Given the description of an element on the screen output the (x, y) to click on. 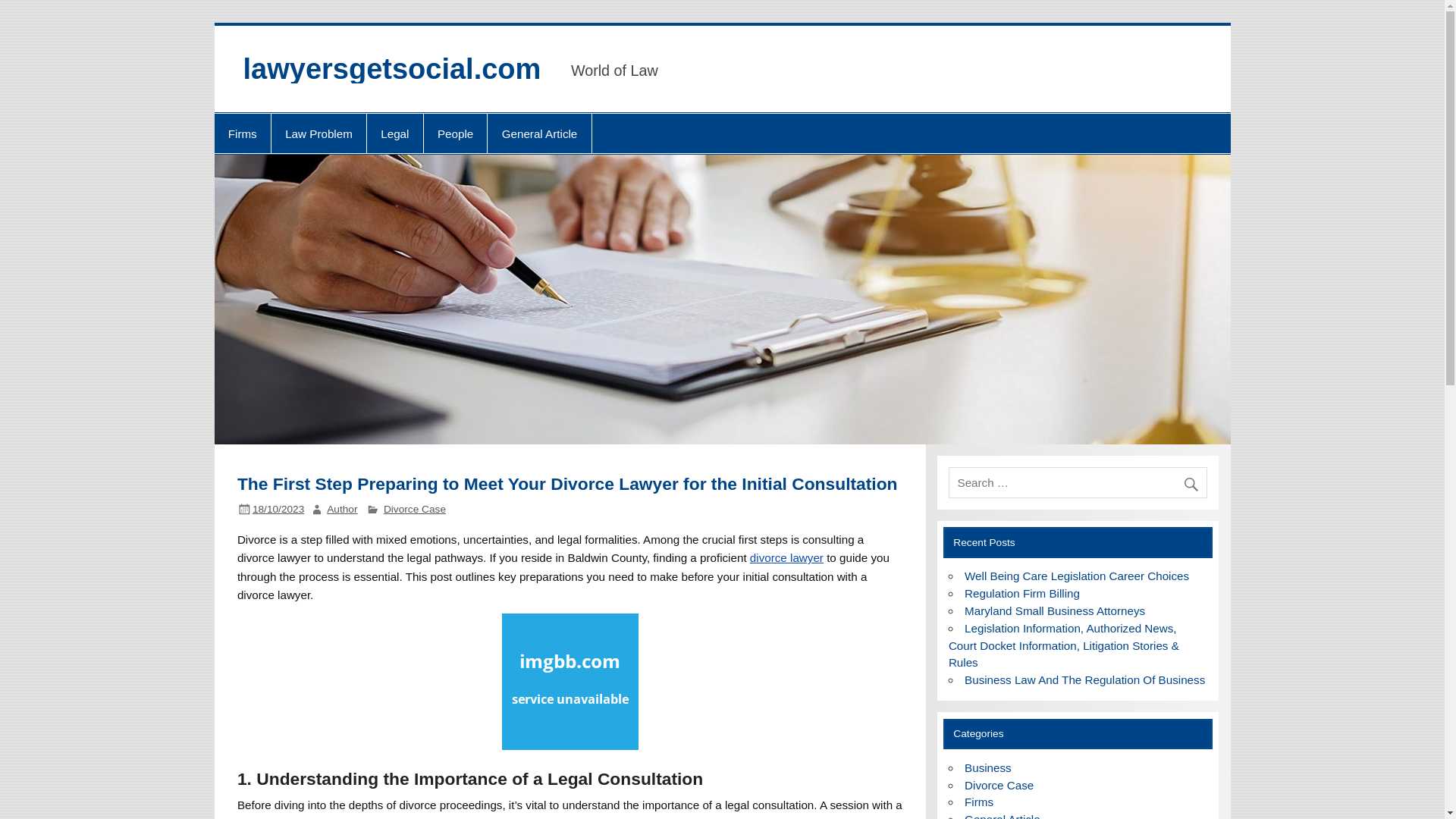
Author (341, 509)
divorce lawyer (786, 557)
Divorce Case (414, 509)
Business Law And The Regulation Of Business (1084, 679)
Well Being Care Legislation Career Choices (1076, 575)
People (455, 133)
General Article (539, 133)
08:31 (277, 509)
Legal (394, 133)
Law Problem (318, 133)
Firms (241, 133)
Business (987, 767)
Maryland Small Business Attorneys (1053, 610)
lawyersgetsocial.com (391, 69)
Regulation Firm Billing (1021, 593)
